Given the description of an element on the screen output the (x, y) to click on. 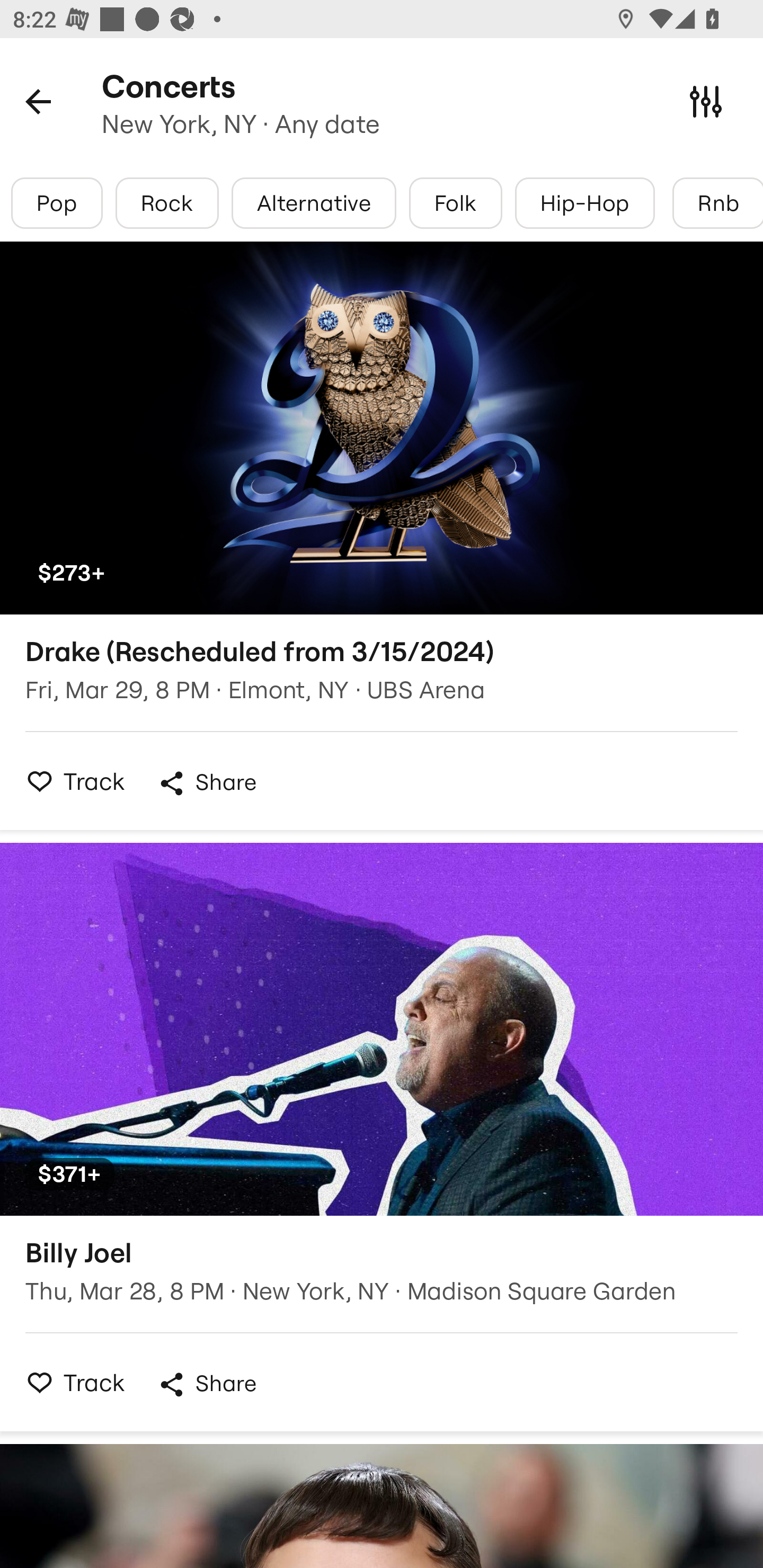
Back (38, 100)
Filters (705, 100)
Pop (57, 202)
Rock (166, 202)
Alternative (313, 202)
Folk (455, 202)
Hip-Hop (584, 202)
Rnb (717, 202)
Track (70, 780)
Share (207, 783)
Track (70, 1381)
Share (207, 1384)
